Given the description of an element on the screen output the (x, y) to click on. 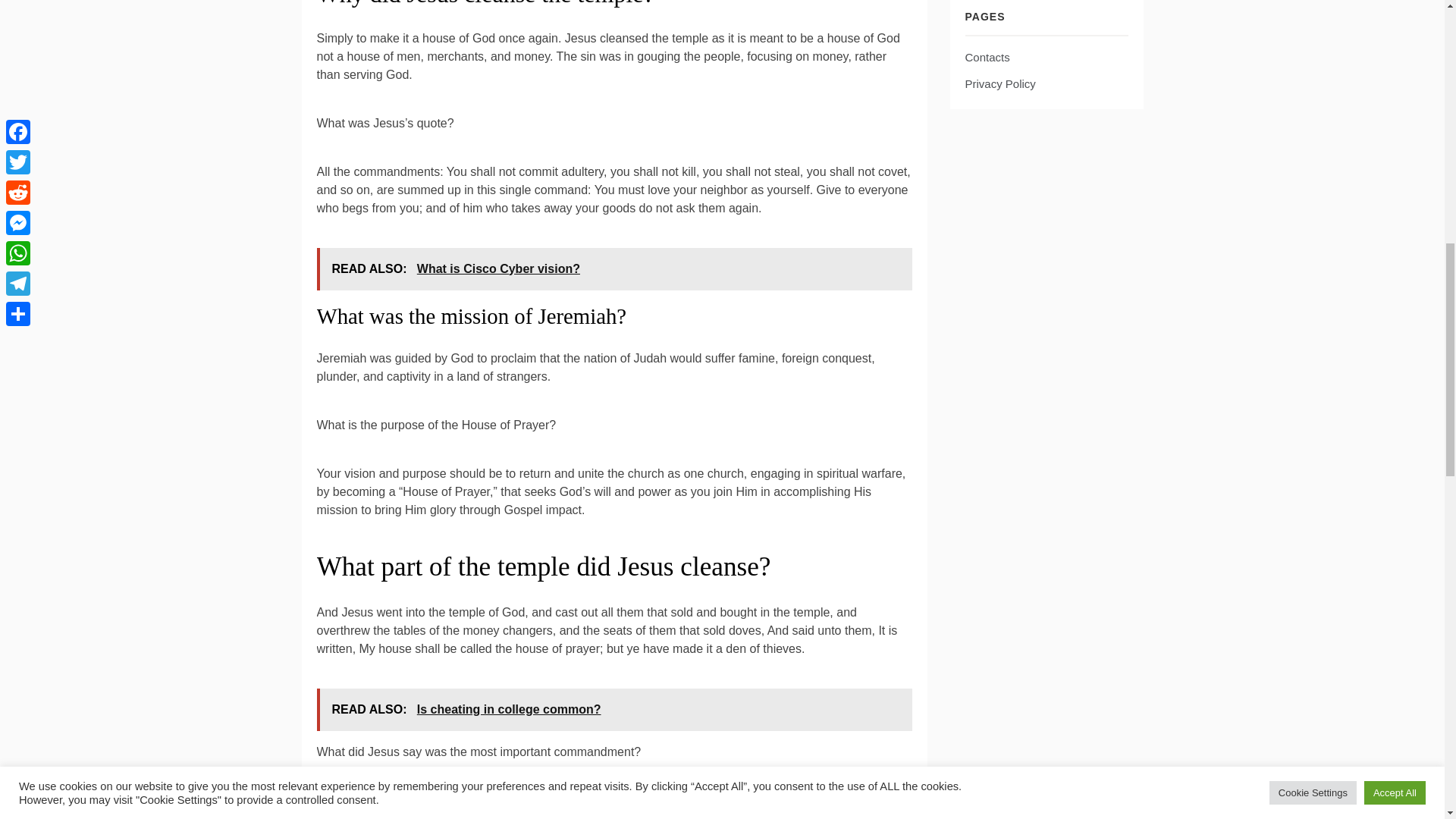
READ ALSO:   What is Cisco Cyber vision? (614, 269)
READ ALSO:   Is cheating in college common? (614, 709)
Privacy Policy (999, 83)
Contacts (986, 56)
